Given the description of an element on the screen output the (x, y) to click on. 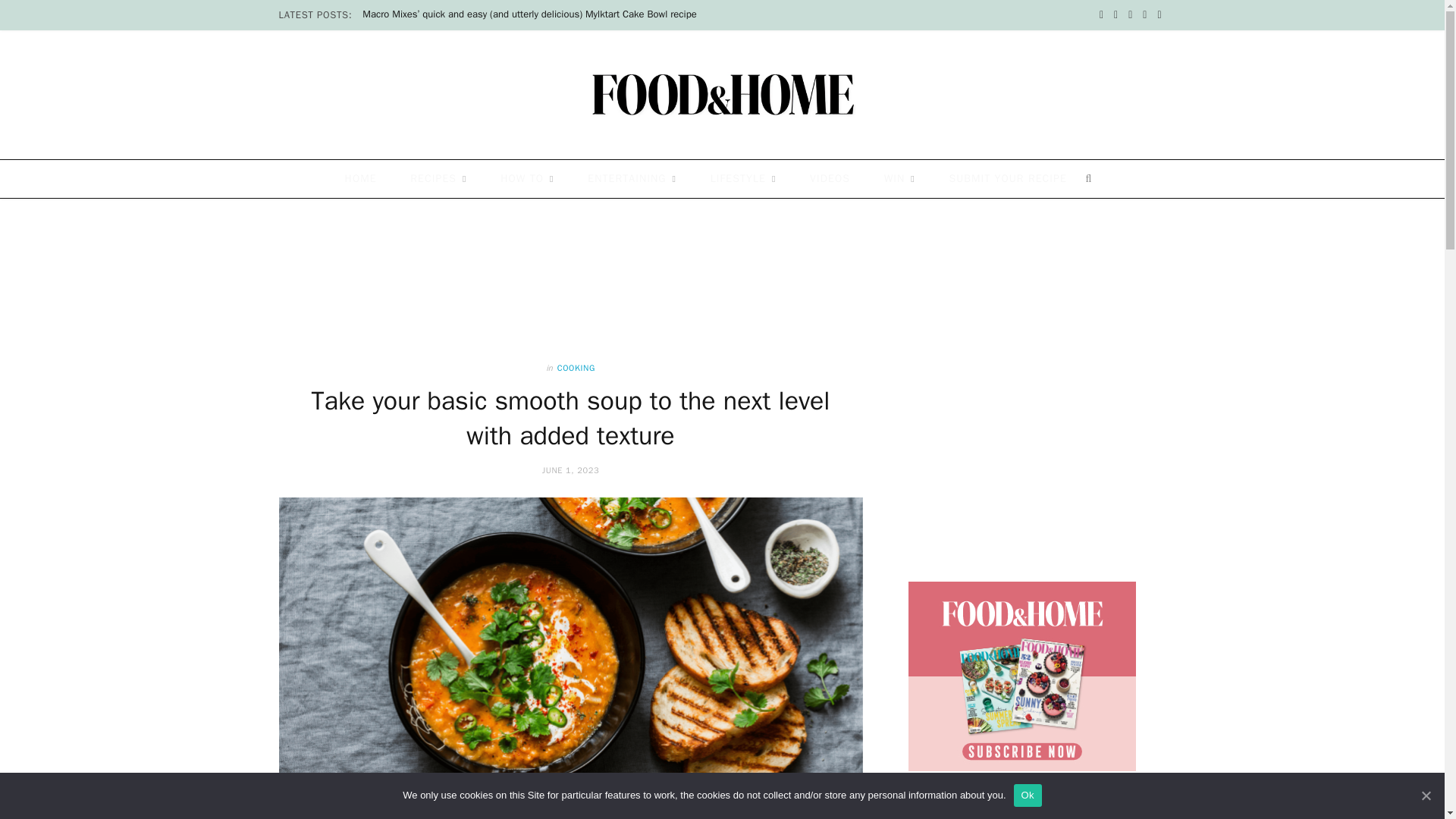
RECIPES (437, 178)
HOME (360, 178)
3rd party ad content (721, 255)
